Given the description of an element on the screen output the (x, y) to click on. 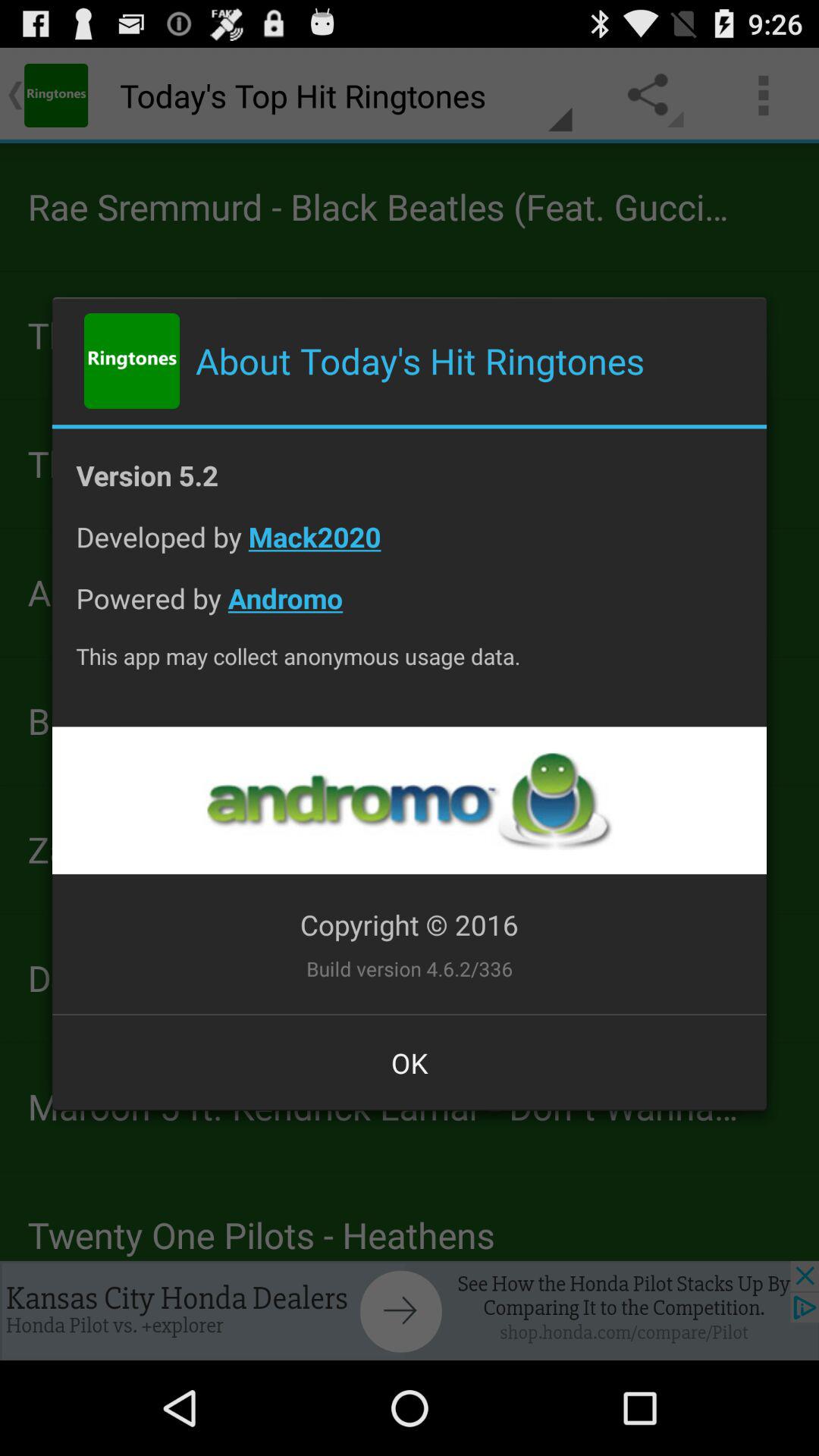
jump to ok (409, 1062)
